Given the description of an element on the screen output the (x, y) to click on. 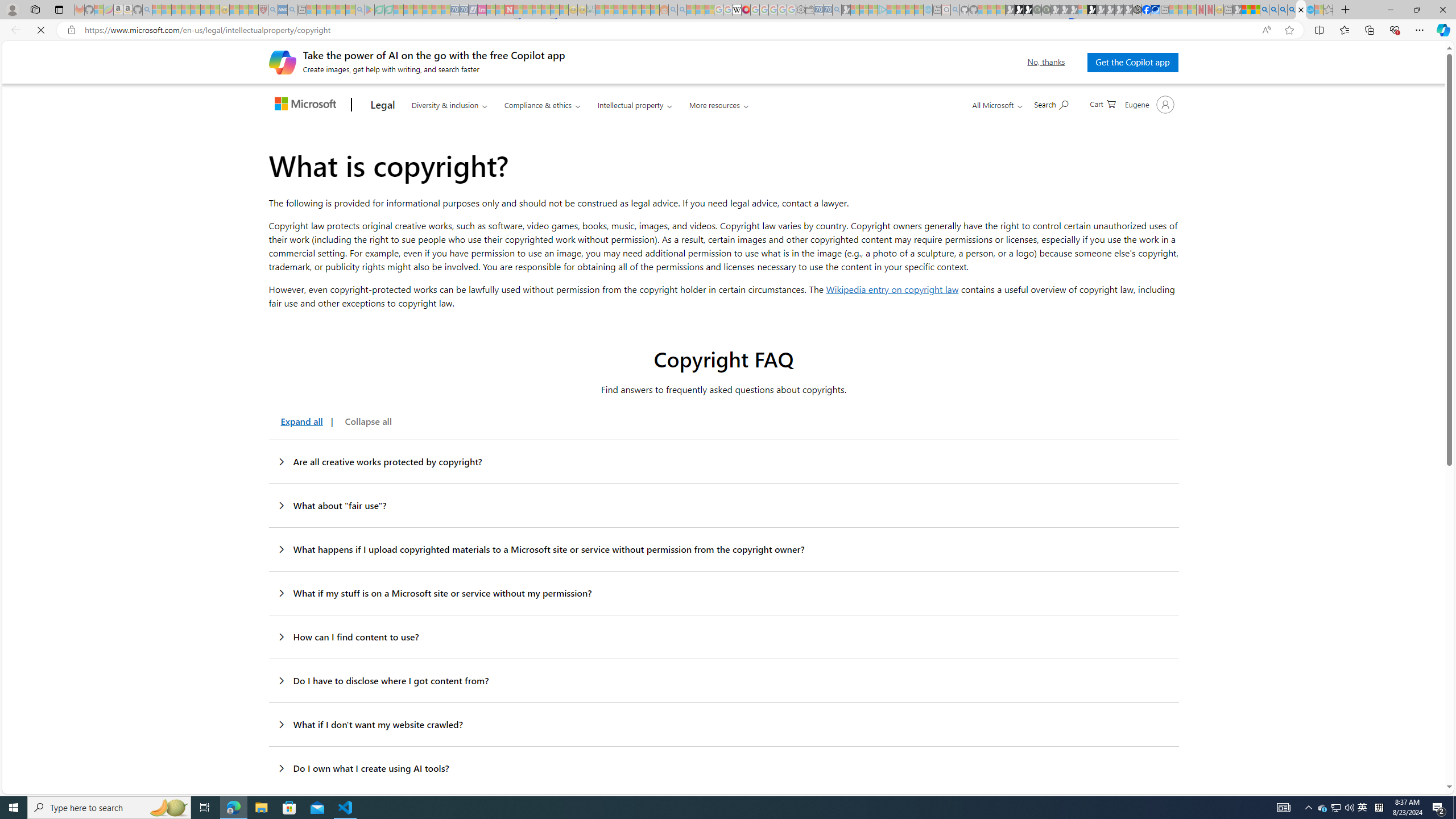
Play Zoo Boom in your browser | Games from Microsoft Start (1018, 9)
What if I don't want my website crawled? (723, 724)
Bluey: Let's Play! - Apps on Google Play - Sleeping (369, 9)
Nordace | Facebook (1146, 9)
Are all creative works protected by copyright? (723, 461)
Local - MSN - Sleeping (253, 9)
